Given the description of an element on the screen output the (x, y) to click on. 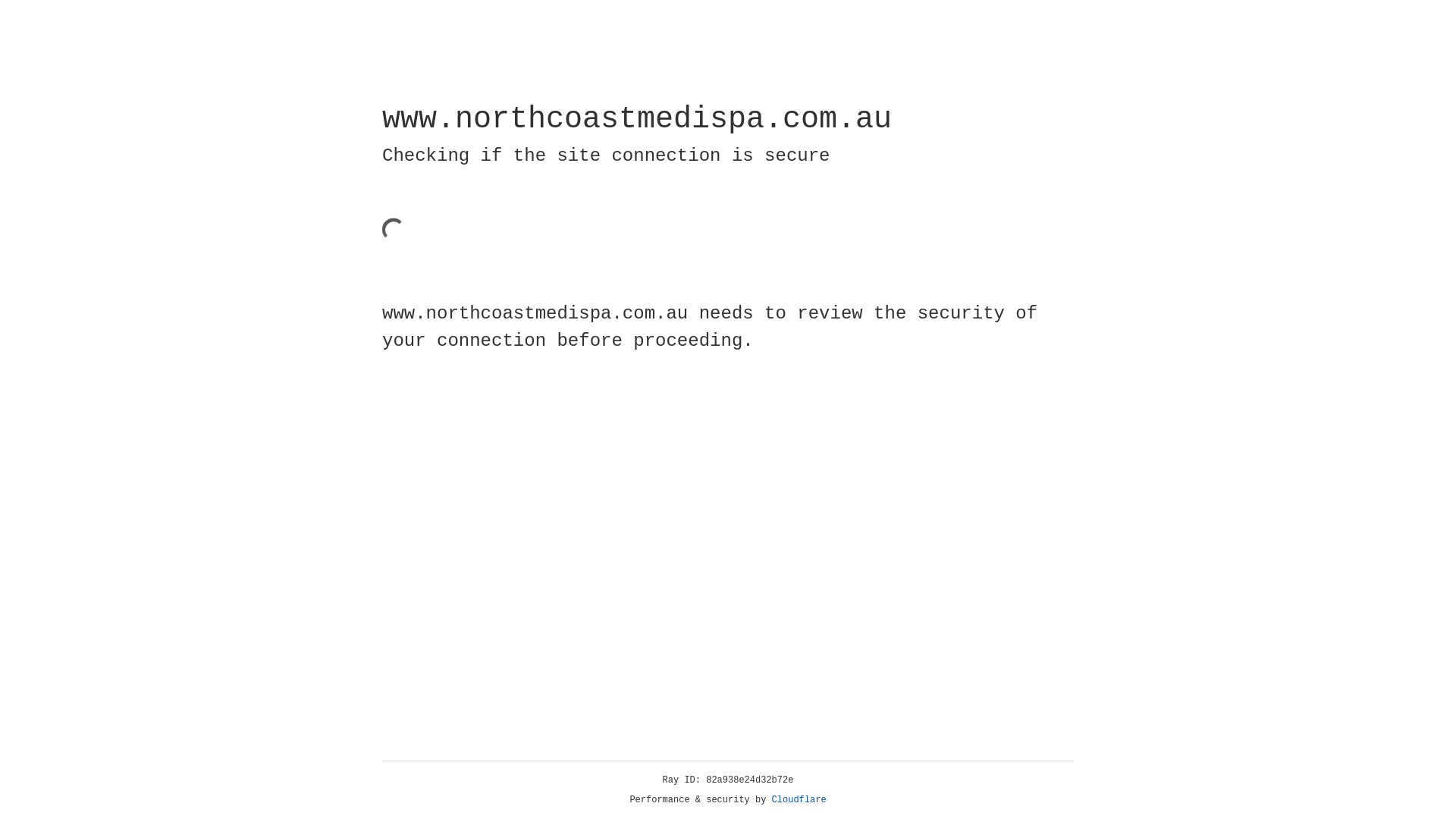
Cloudflare Element type: text (798, 799)
